Given the description of an element on the screen output the (x, y) to click on. 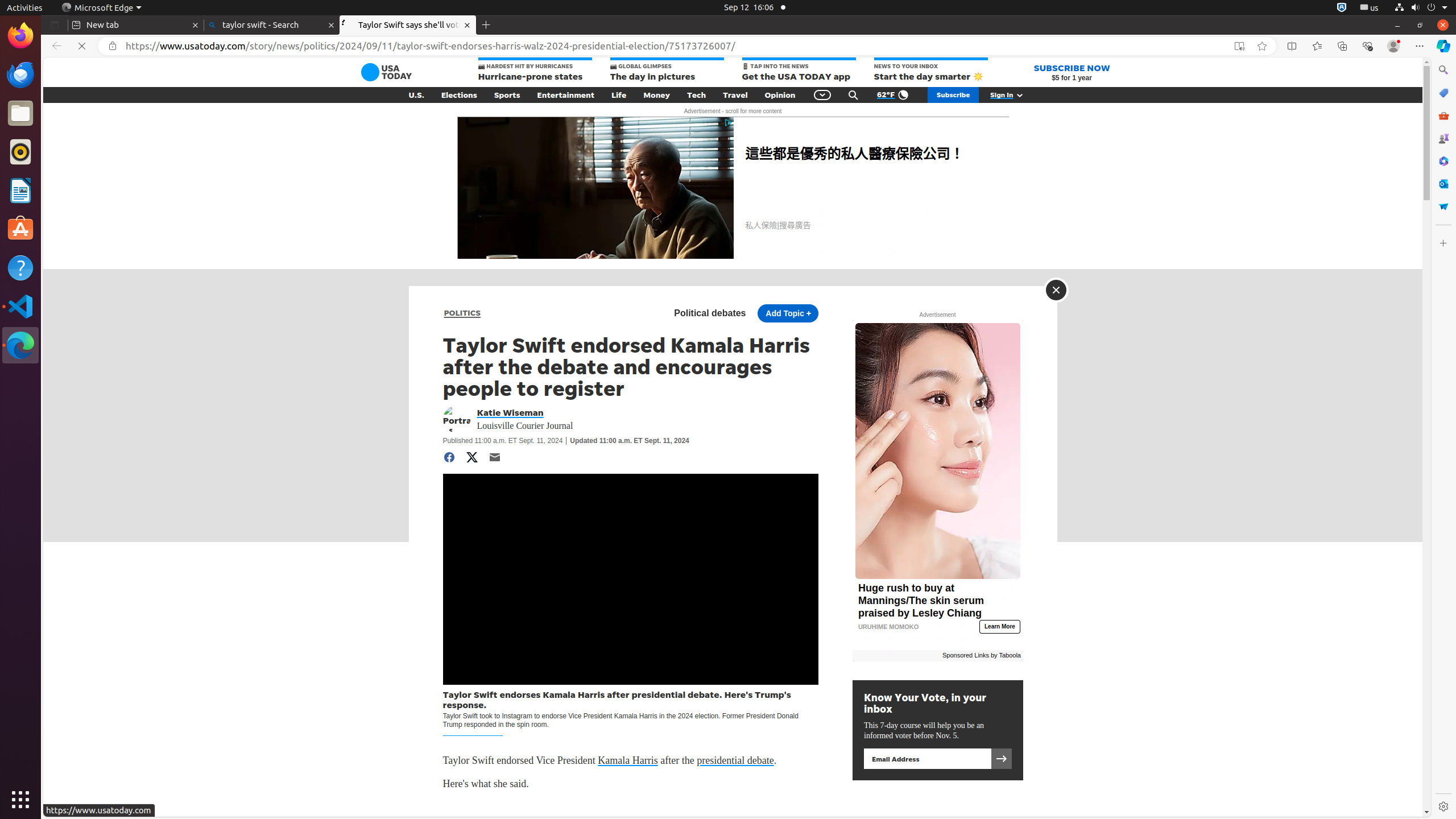
Kamala Harris Element type: link (627, 760)
Add this page to favorites (Ctrl+D) Element type: push-button (1261, 46)
Life Element type: link (618, 94)
Share by email Element type: link (494, 457)
Money Element type: link (656, 94)
